Given the description of an element on the screen output the (x, y) to click on. 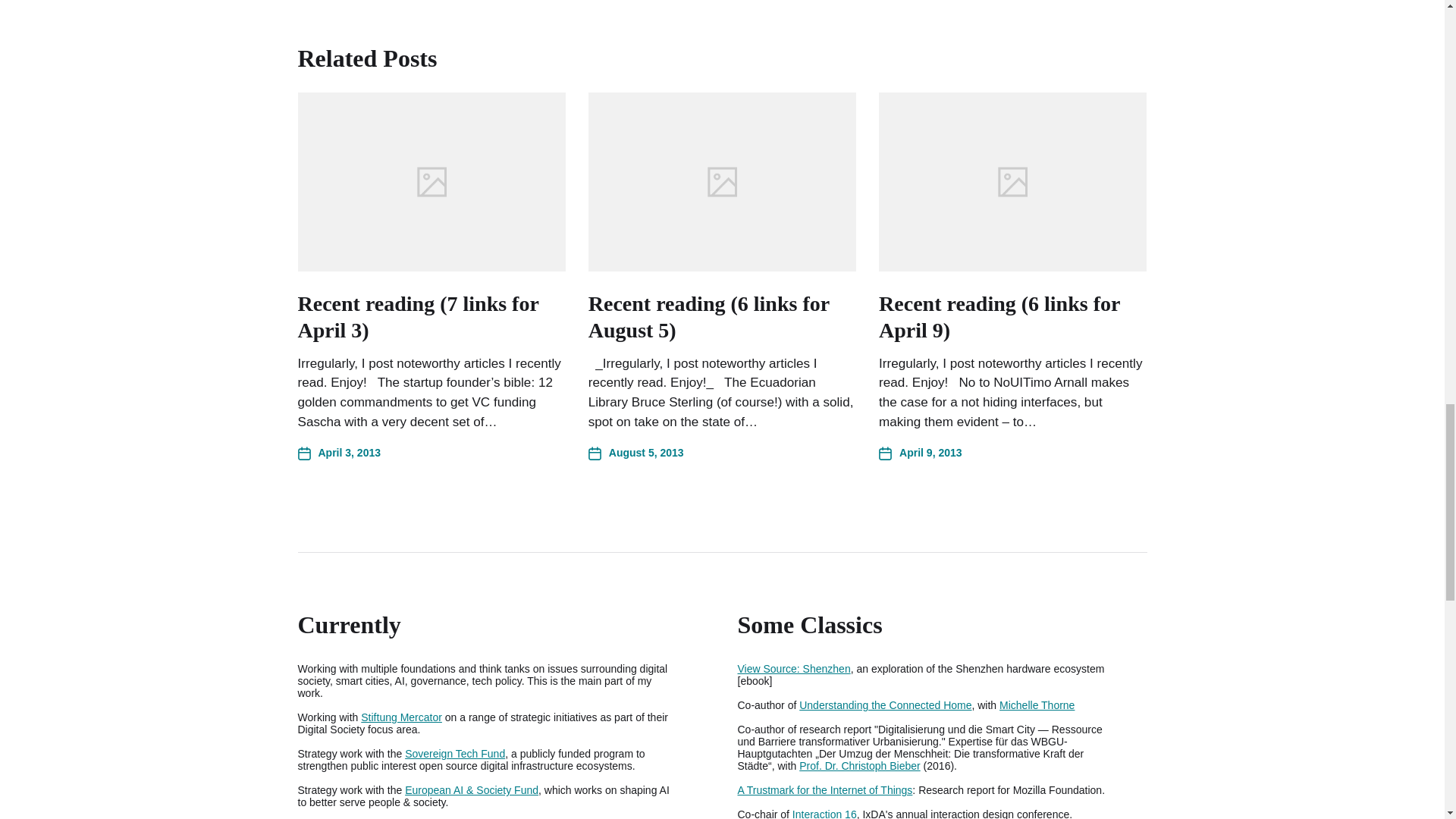
April 3, 2013 (338, 453)
